Given the description of an element on the screen output the (x, y) to click on. 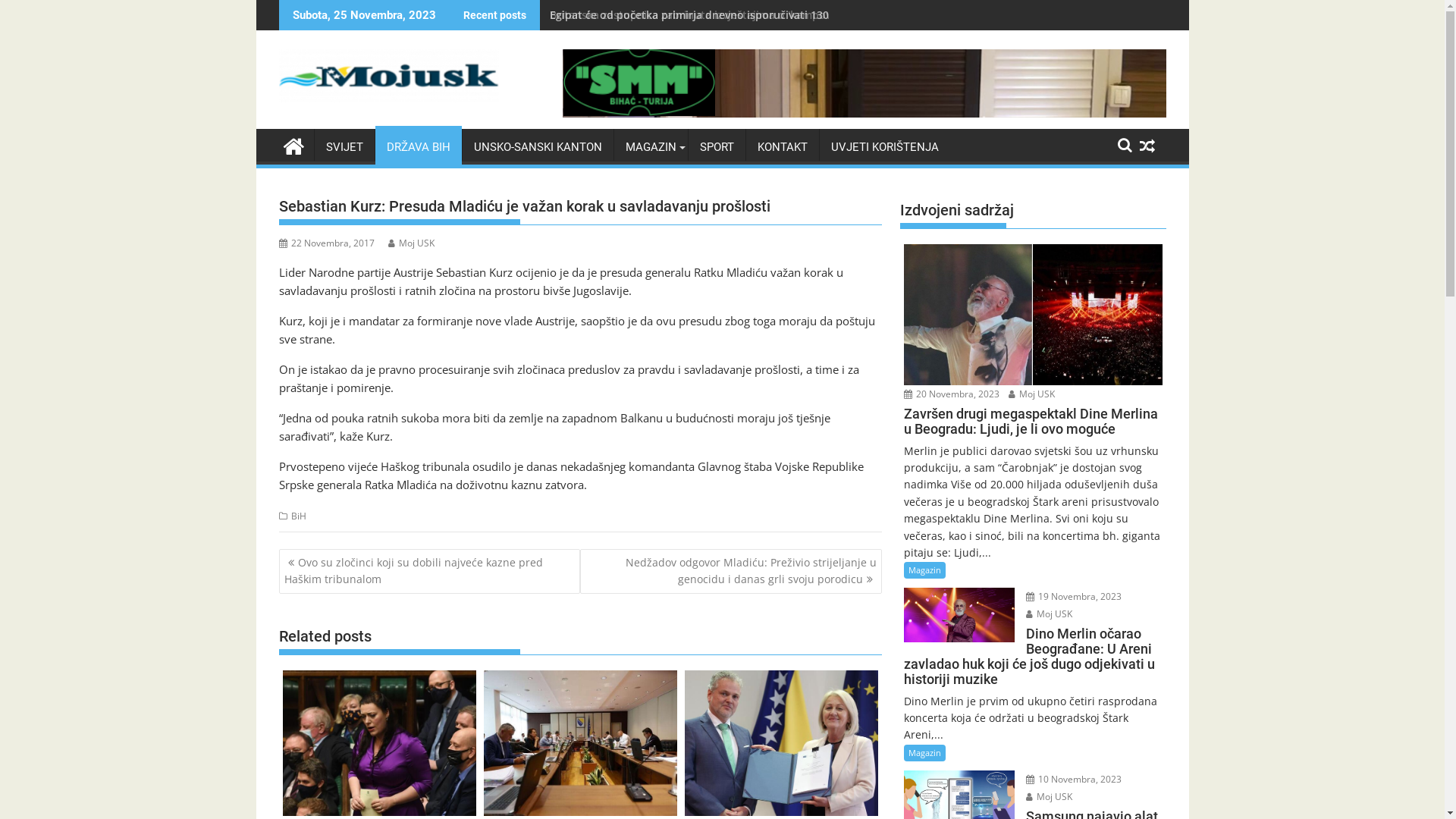
MAGAZIN Element type: text (650, 146)
KONTAKT Element type: text (782, 146)
Magazin Element type: text (924, 569)
19 Novembra, 2023 Element type: text (1073, 595)
mojusk.ba Element type: hover (293, 143)
UNSKO-SANSKI KANTON Element type: text (537, 146)
22 Novembra, 2017 Element type: text (326, 242)
10 Novembra, 2023 Element type: text (1073, 778)
Moj USK Element type: text (1049, 796)
SPORT Element type: text (716, 146)
Moj USK Element type: text (1049, 613)
20 Novembra, 2023 Element type: text (951, 393)
SVIJET Element type: text (343, 146)
BiH Element type: text (298, 515)
Moj USK Element type: text (411, 242)
Moj USK Element type: text (1031, 393)
Magazin Element type: text (924, 752)
